Given the description of an element on the screen output the (x, y) to click on. 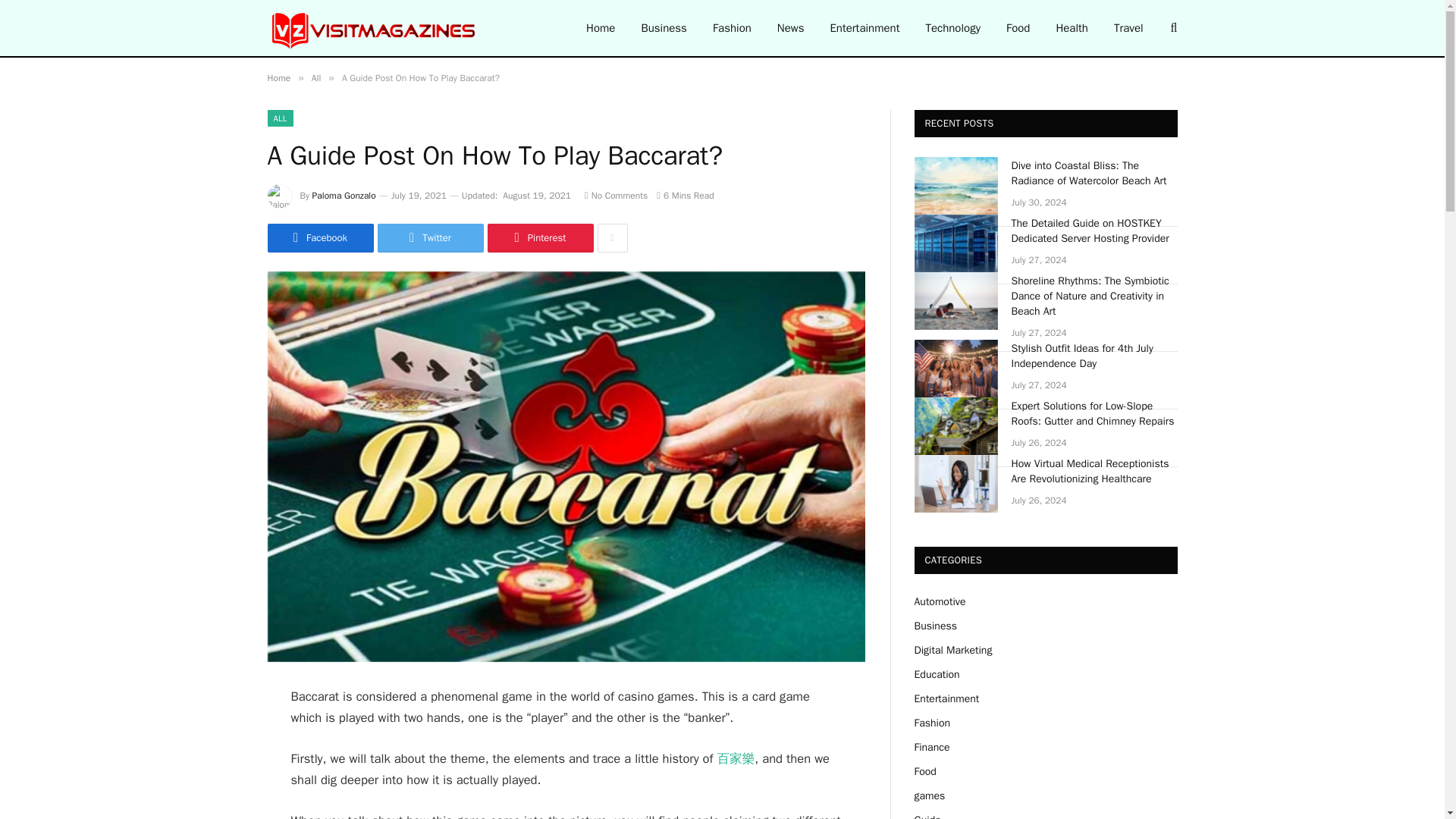
Health (1071, 28)
Facebook (319, 237)
Twitter (430, 237)
ALL (279, 117)
Entertainment (864, 28)
News (790, 28)
Pinterest (539, 237)
No Comments (616, 195)
Paloma Gonzalo (344, 195)
Share on Pinterest (539, 237)
Business (663, 28)
Home (277, 78)
Fashion (732, 28)
Posts by Paloma Gonzalo (344, 195)
Home (600, 28)
